Given the description of an element on the screen output the (x, y) to click on. 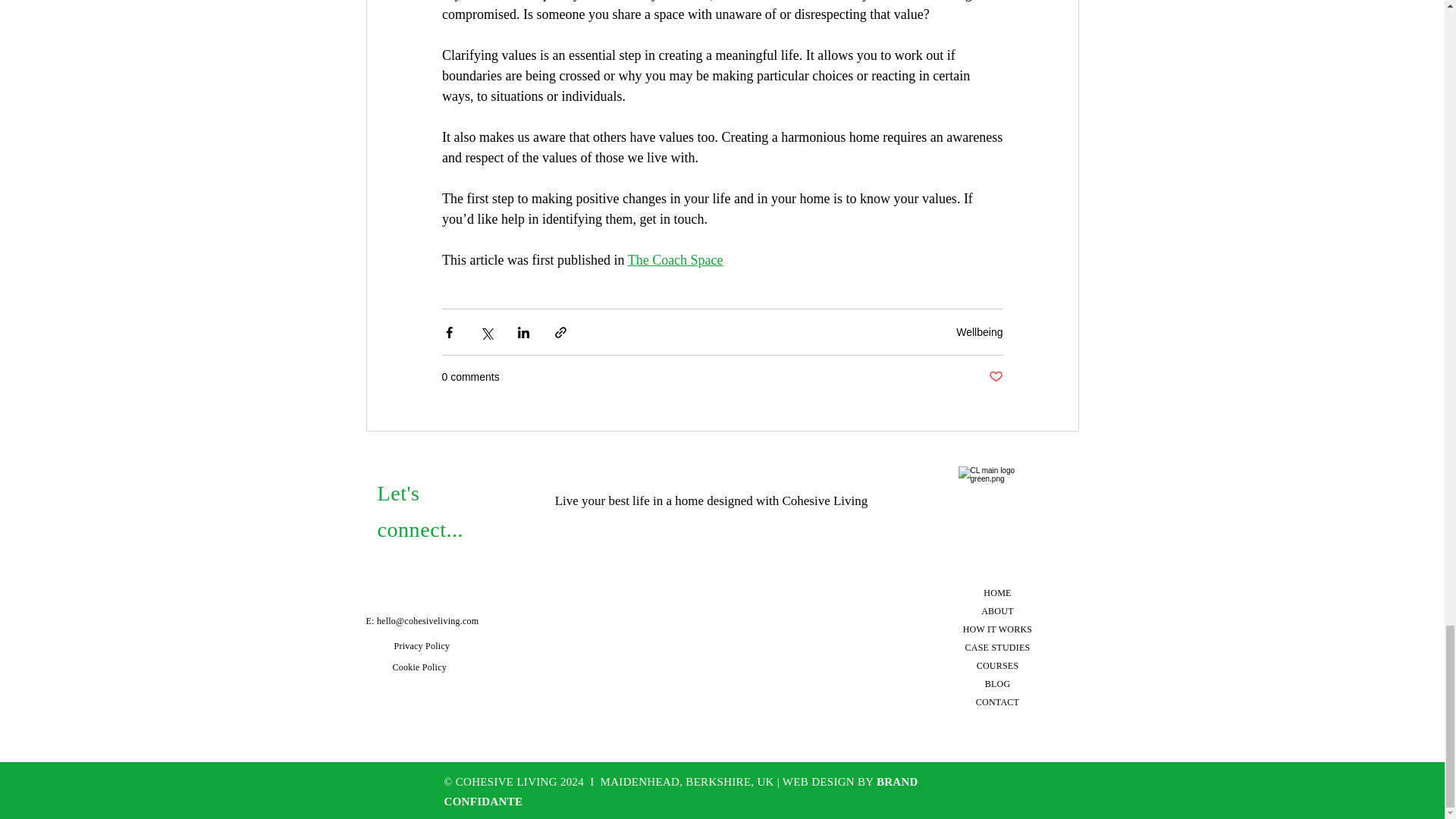
Post not marked as liked (995, 376)
HOME (997, 593)
HOW IT WORKS (997, 629)
The Coach Space (674, 259)
BLOG (997, 683)
CASE STUDIES (997, 647)
CONTACT (997, 701)
COURSES (997, 665)
Cookie Policy (419, 666)
Privacy Policy (421, 645)
ABOUT (997, 611)
Wellbeing (979, 331)
BRAND CONFIDANTE (681, 791)
